Given the description of an element on the screen output the (x, y) to click on. 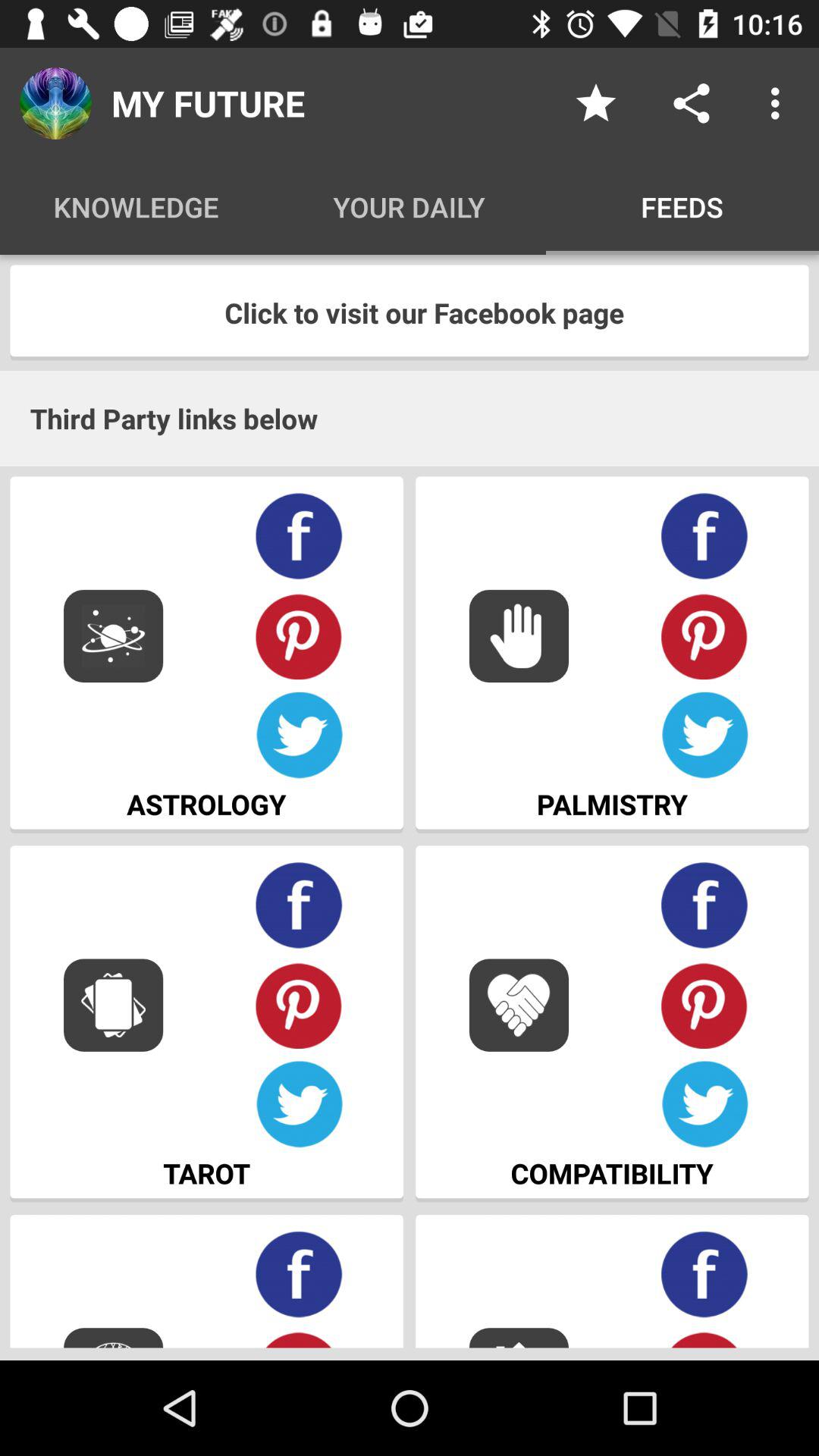
link to subject 's facebook page (299, 536)
